Given the description of an element on the screen output the (x, y) to click on. 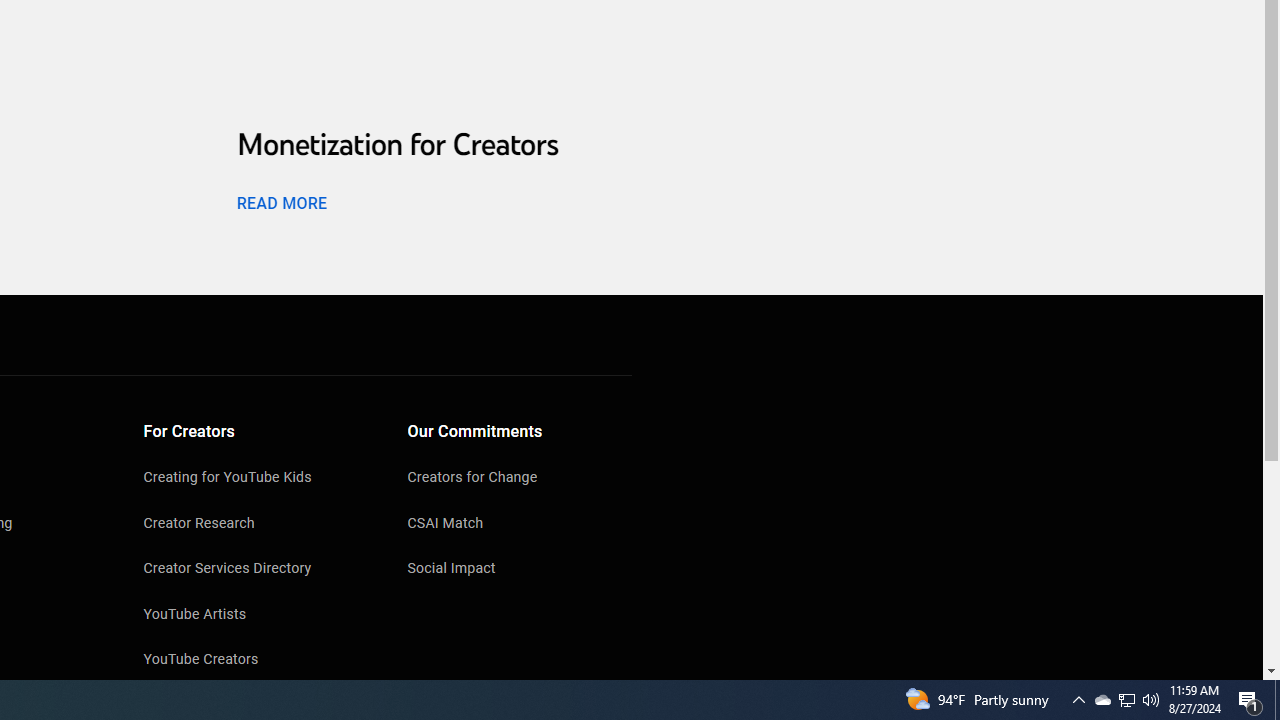
YouTube Artists (255, 616)
READ MORE (281, 202)
YouTube Creators (255, 660)
Creating for YouTube Kids (255, 479)
Creator Services Directory (255, 570)
CSAI Match (519, 524)
Creators for Change (519, 479)
Social Impact (519, 570)
Creator Research (255, 524)
